Given the description of an element on the screen output the (x, y) to click on. 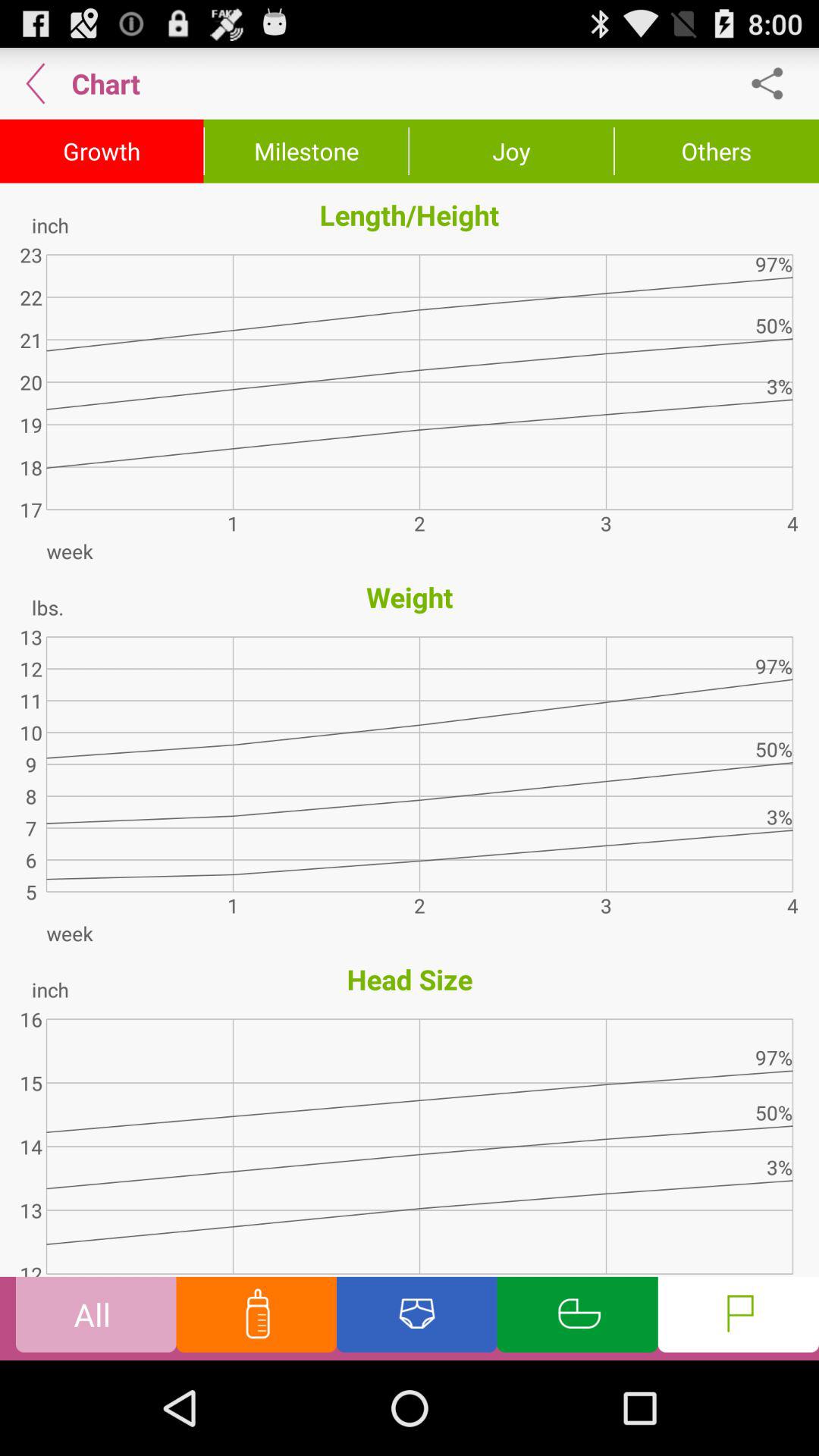
turn on icon to the left of the chart (35, 83)
